Given the description of an element on the screen output the (x, y) to click on. 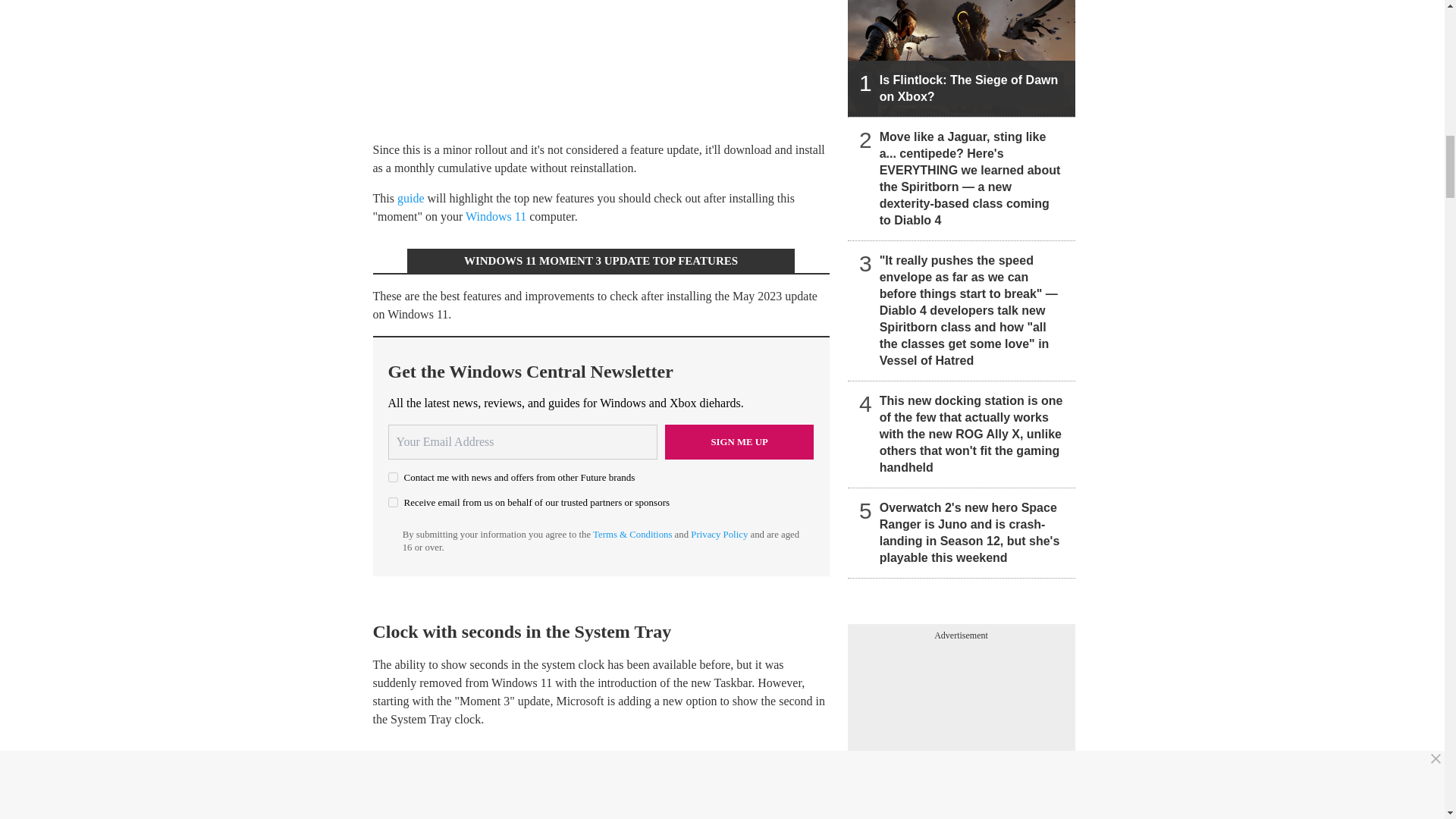
on (392, 477)
on (392, 501)
Sign me up (739, 442)
guide (411, 197)
